Given the description of an element on the screen output the (x, y) to click on. 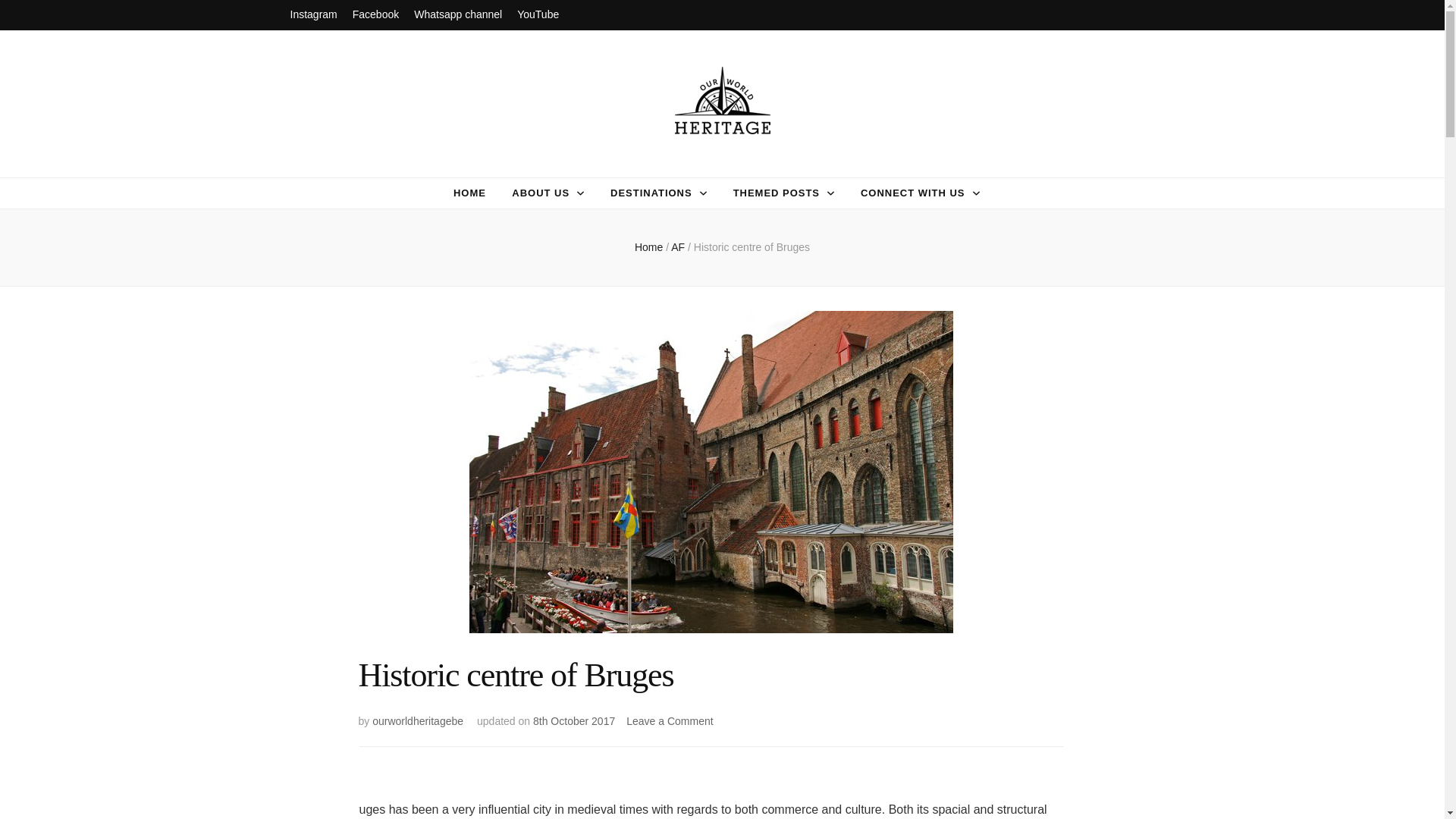
ABOUT US (540, 193)
Facebook (375, 15)
Our world heritage (468, 164)
DESTINATIONS (651, 193)
YouTube (537, 15)
Whatsapp channel (457, 15)
HOME (469, 193)
Instagram (312, 15)
